Given the description of an element on the screen output the (x, y) to click on. 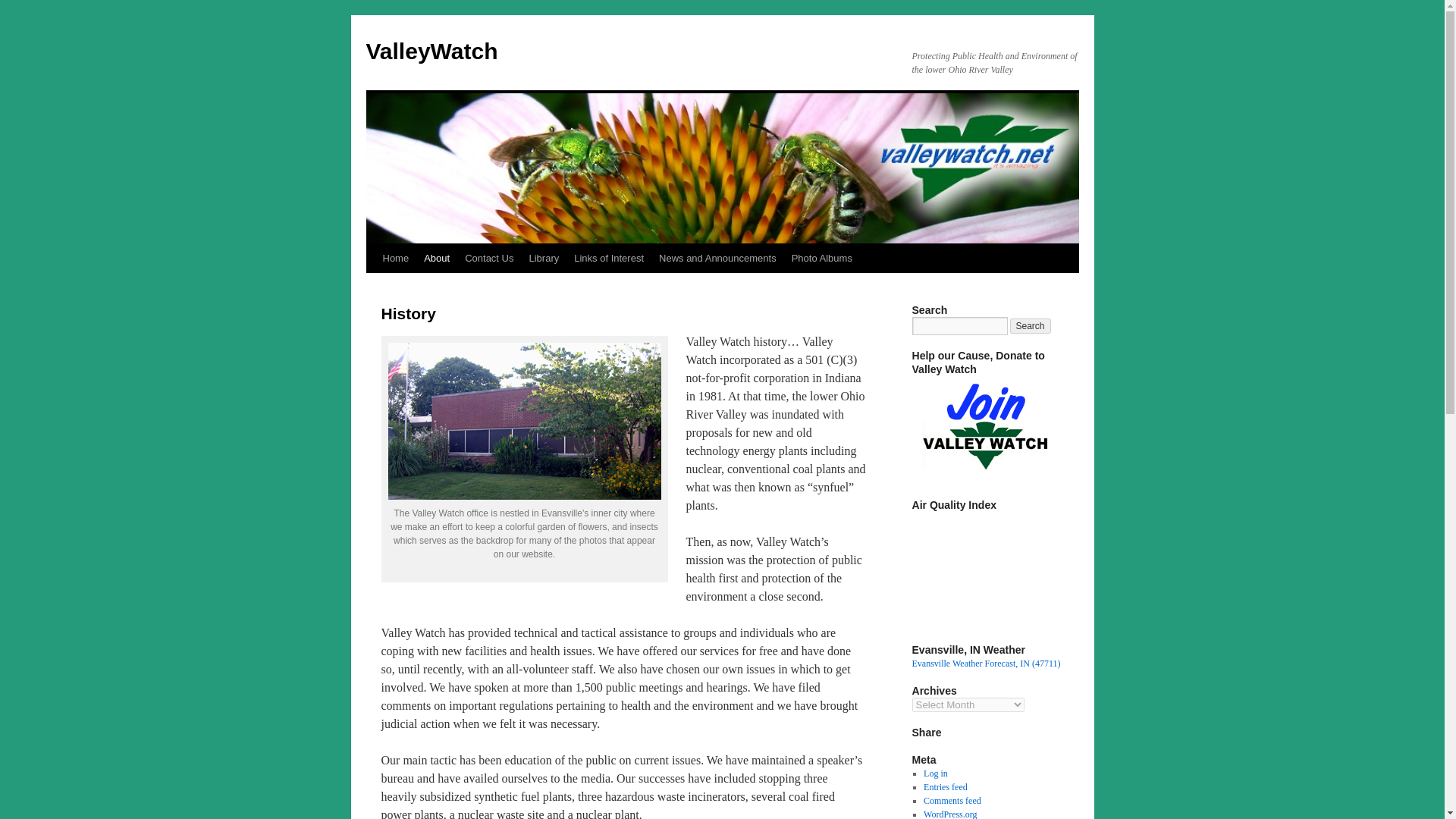
Links of Interest (608, 258)
About (436, 258)
Contact Us (489, 258)
Home (395, 258)
Photo Albums (822, 258)
Search (1030, 325)
Example 7 (1024, 568)
News and Announcements (717, 258)
Library (543, 258)
VW-Office (524, 421)
